Given the description of an element on the screen output the (x, y) to click on. 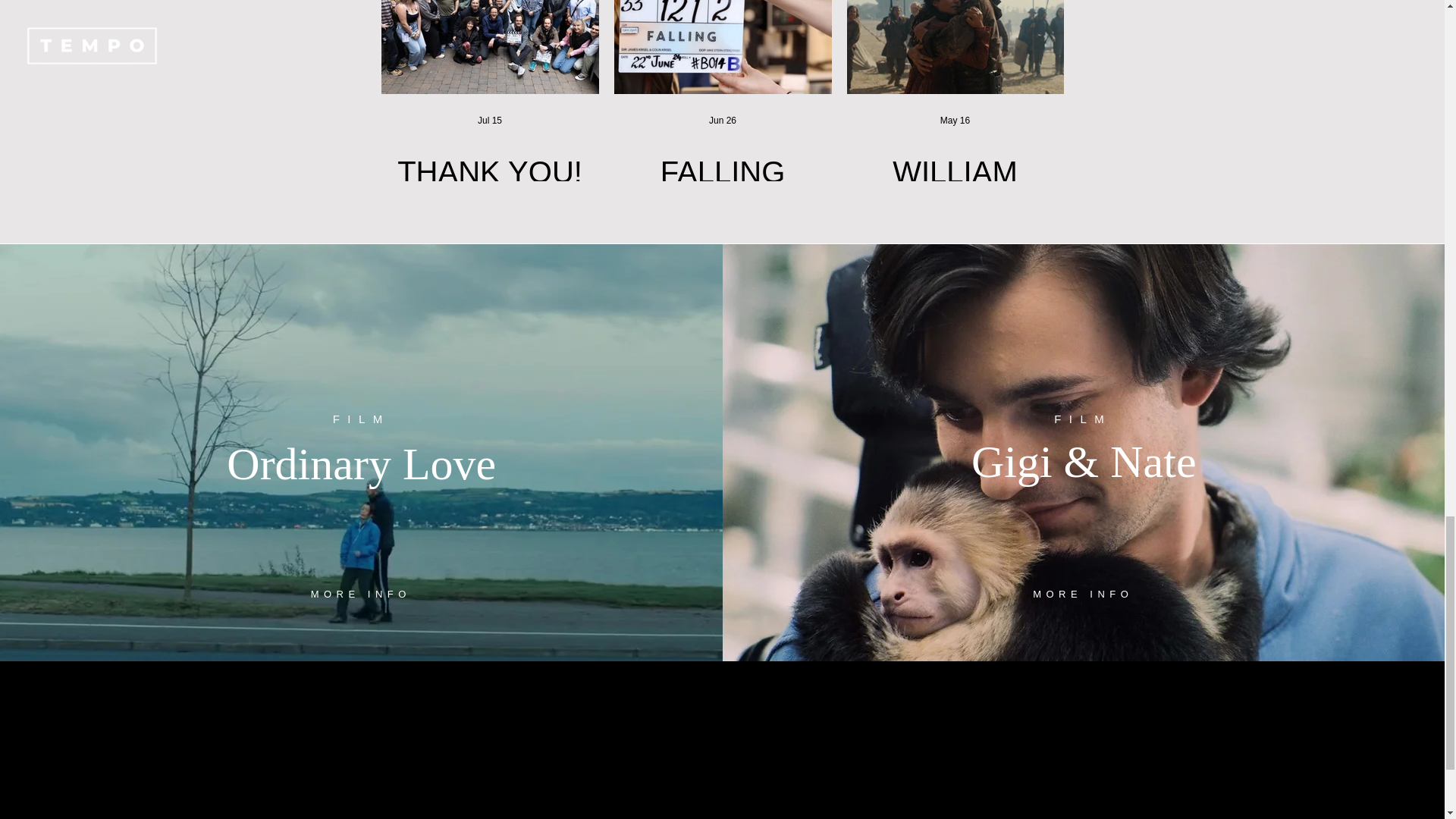
Jul 15 (489, 120)
May 16 (954, 120)
Jun 26 (722, 120)
